Given the description of an element on the screen output the (x, y) to click on. 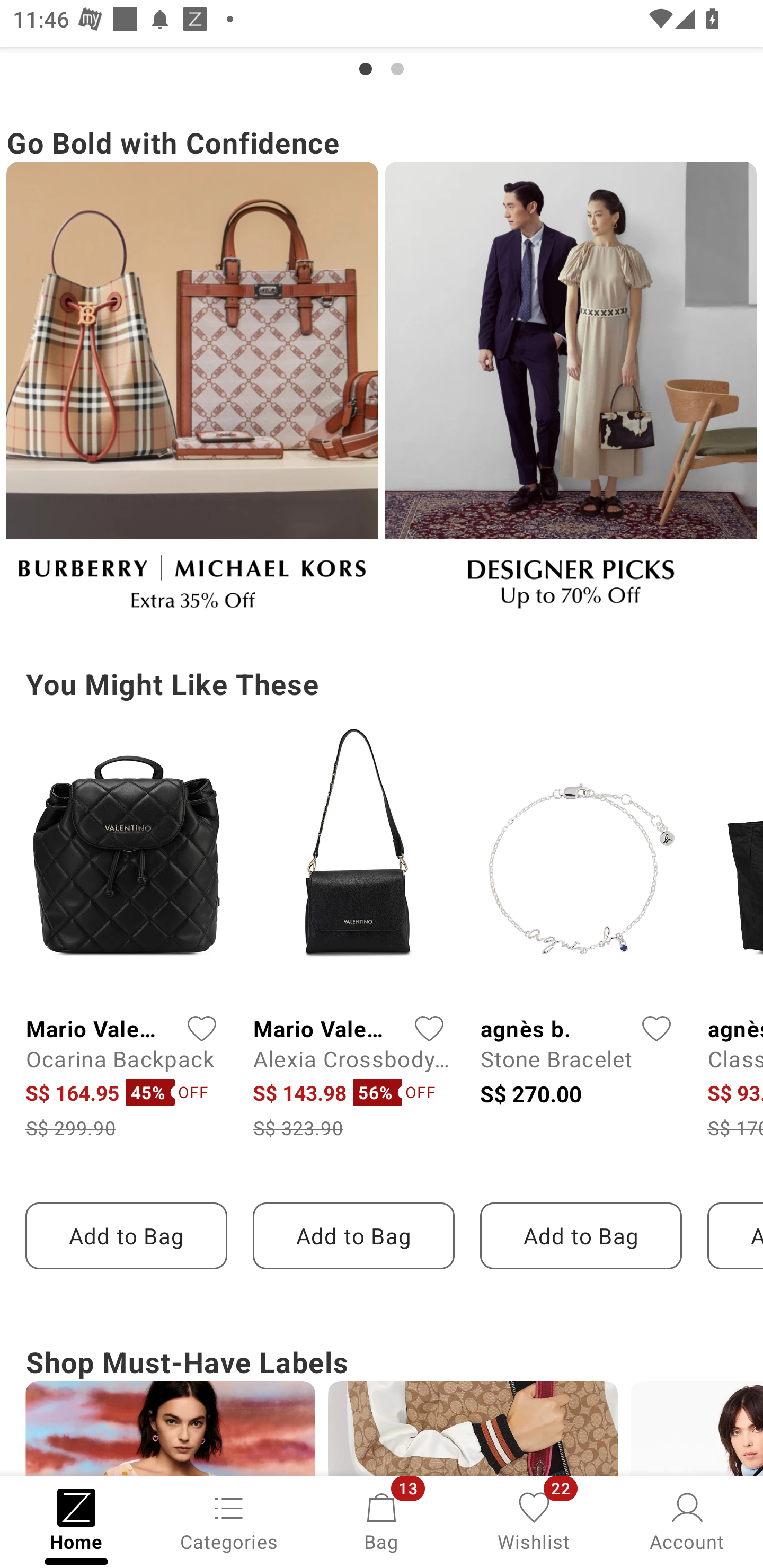
Campaign banner (192, 393)
Campaign banner (570, 393)
Add to Bag (126, 1235)
Add to Bag (353, 1235)
Add to Bag (580, 1235)
Categories (228, 1519)
Bag, 13 new notifications Bag (381, 1519)
Wishlist, 22 new notifications Wishlist (533, 1519)
Account (686, 1519)
